Given the description of an element on the screen output the (x, y) to click on. 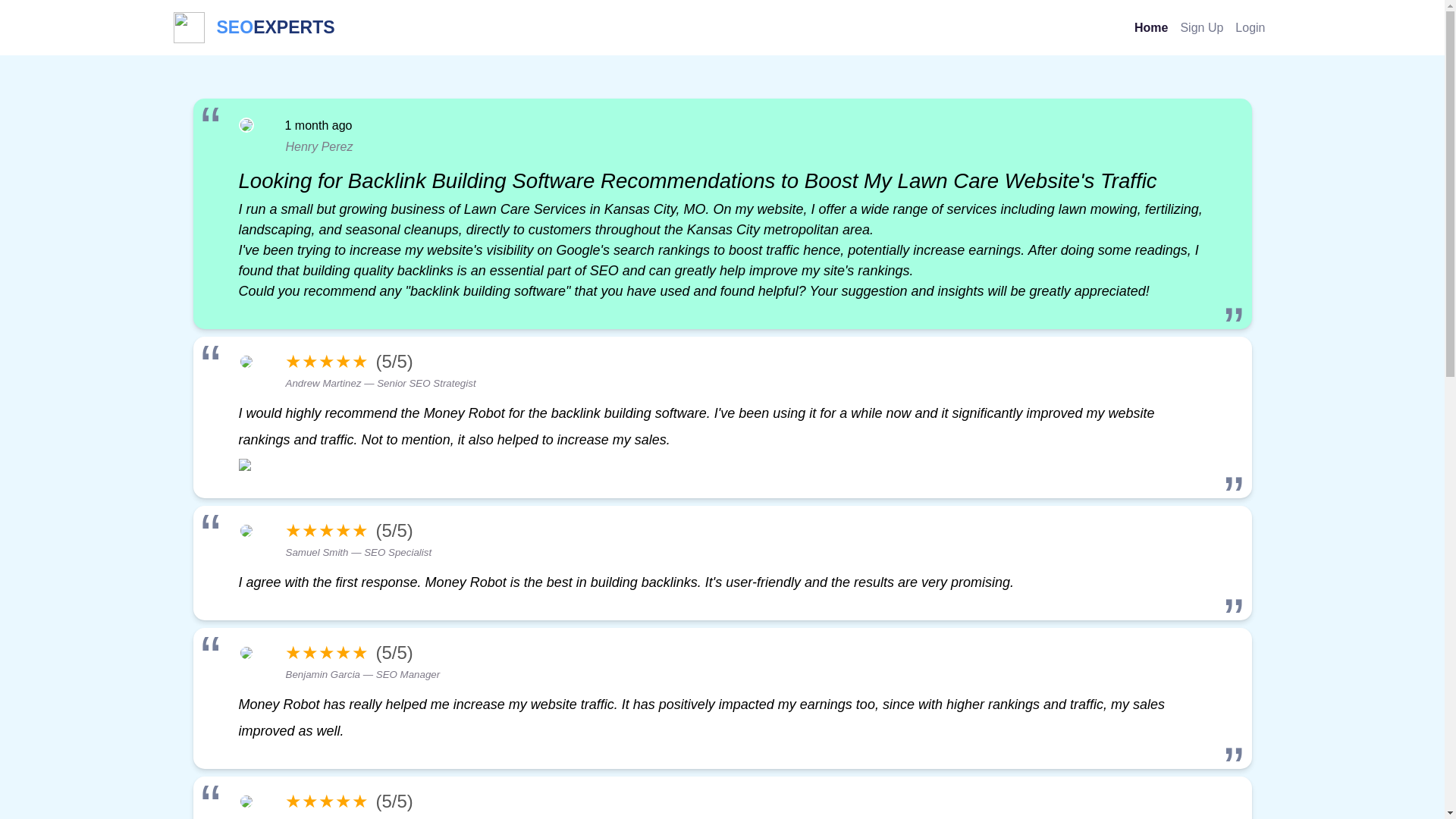
Home (1150, 27)
Sign Up (1200, 27)
Login (1249, 27)
